Given the description of an element on the screen output the (x, y) to click on. 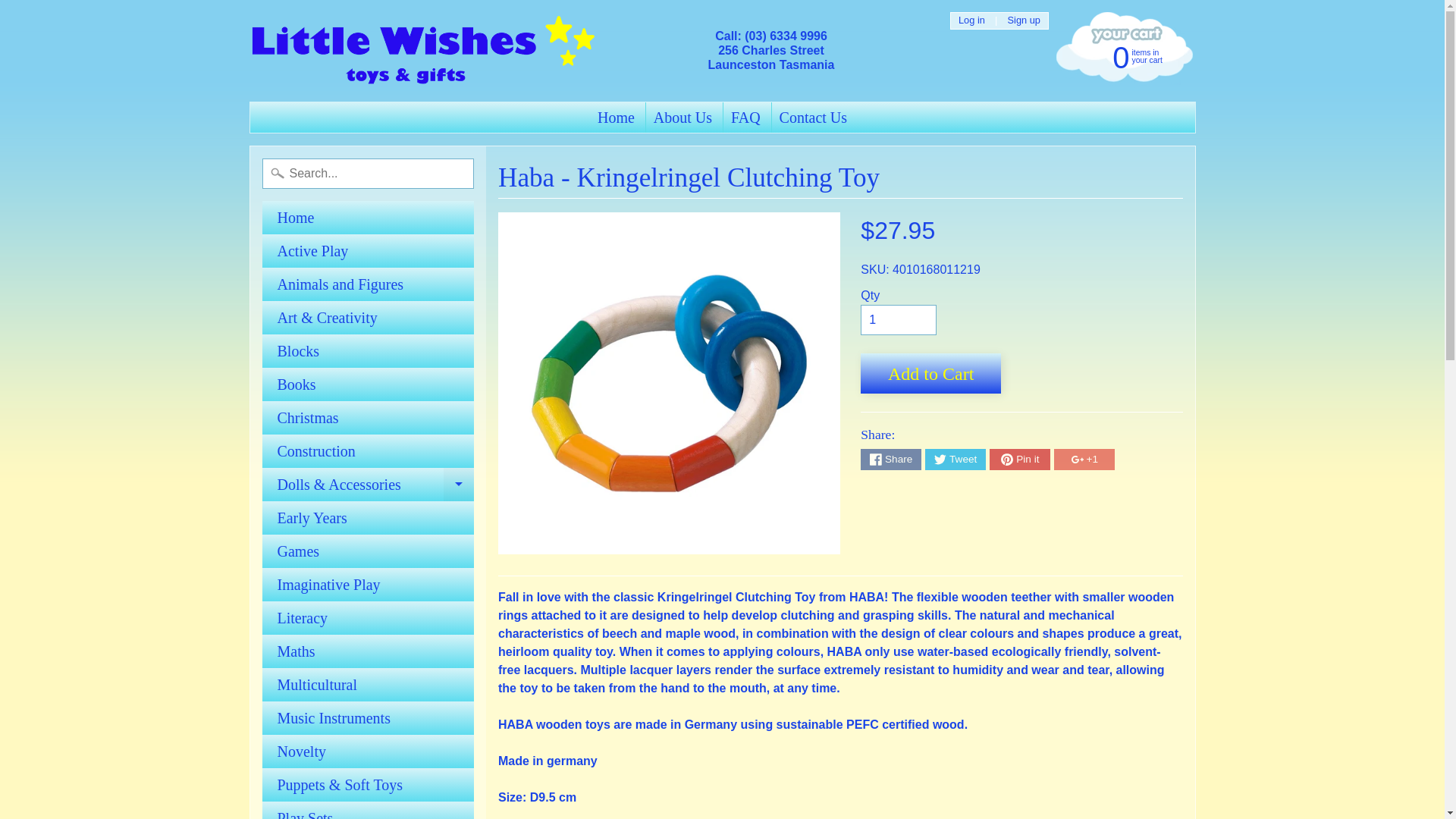
Pin on Pinterest (1019, 459)
Home (615, 117)
Books (368, 384)
Games (368, 551)
Home (368, 217)
Sign up (1024, 20)
Imaginative Play (368, 584)
Expand child menu (459, 484)
Blocks (368, 350)
FAQ (745, 117)
Multicultural (1122, 56)
About Us (368, 684)
Share on Facebook (682, 117)
Animals and Figures (890, 459)
